Given the description of an element on the screen output the (x, y) to click on. 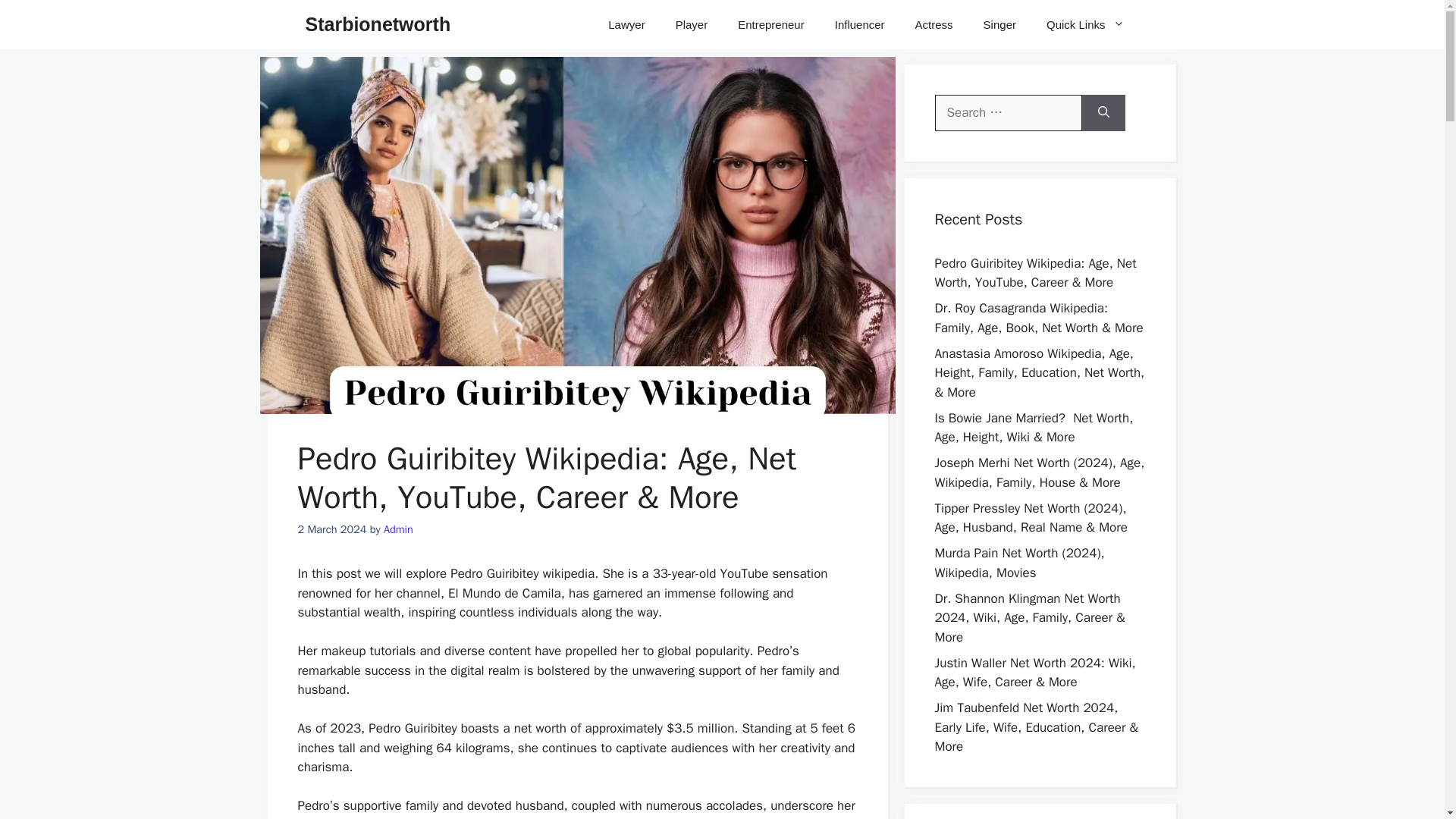
Influencer (859, 23)
Player (692, 23)
Entrepreneur (770, 23)
Quick Links (1085, 23)
Lawyer (625, 23)
Actress (933, 23)
Starbionetworth (376, 24)
Singer (999, 23)
Admin (398, 529)
View all posts by Admin (398, 529)
